Given the description of an element on the screen output the (x, y) to click on. 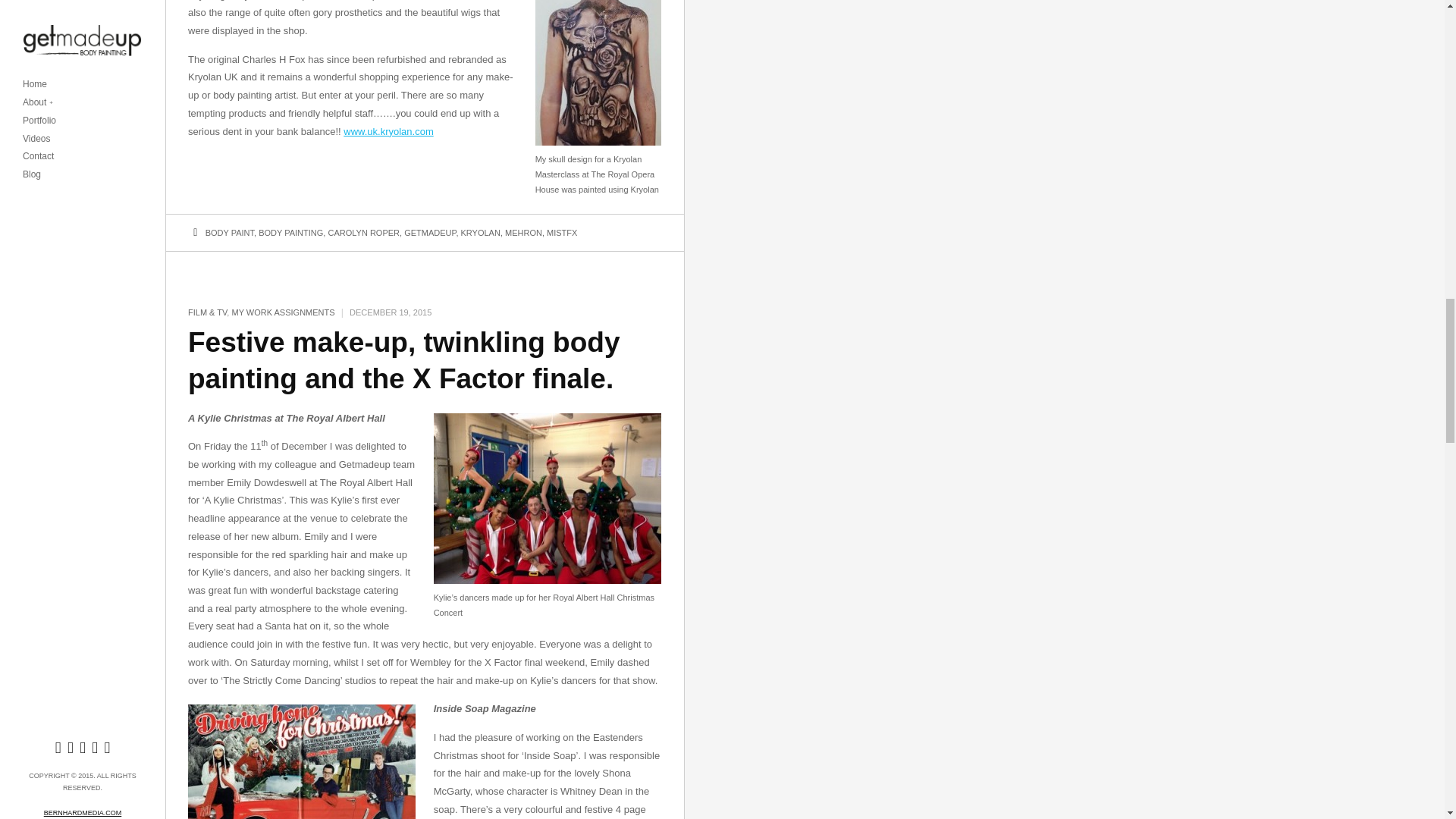
CAROLYN ROPER (362, 232)
BODY PAINTING (291, 232)
GETMADEUP (429, 232)
MEHRON (523, 232)
www.uk.kryolan.com (387, 131)
KRYOLAN (480, 232)
BODY PAINT (229, 232)
